Given the description of an element on the screen output the (x, y) to click on. 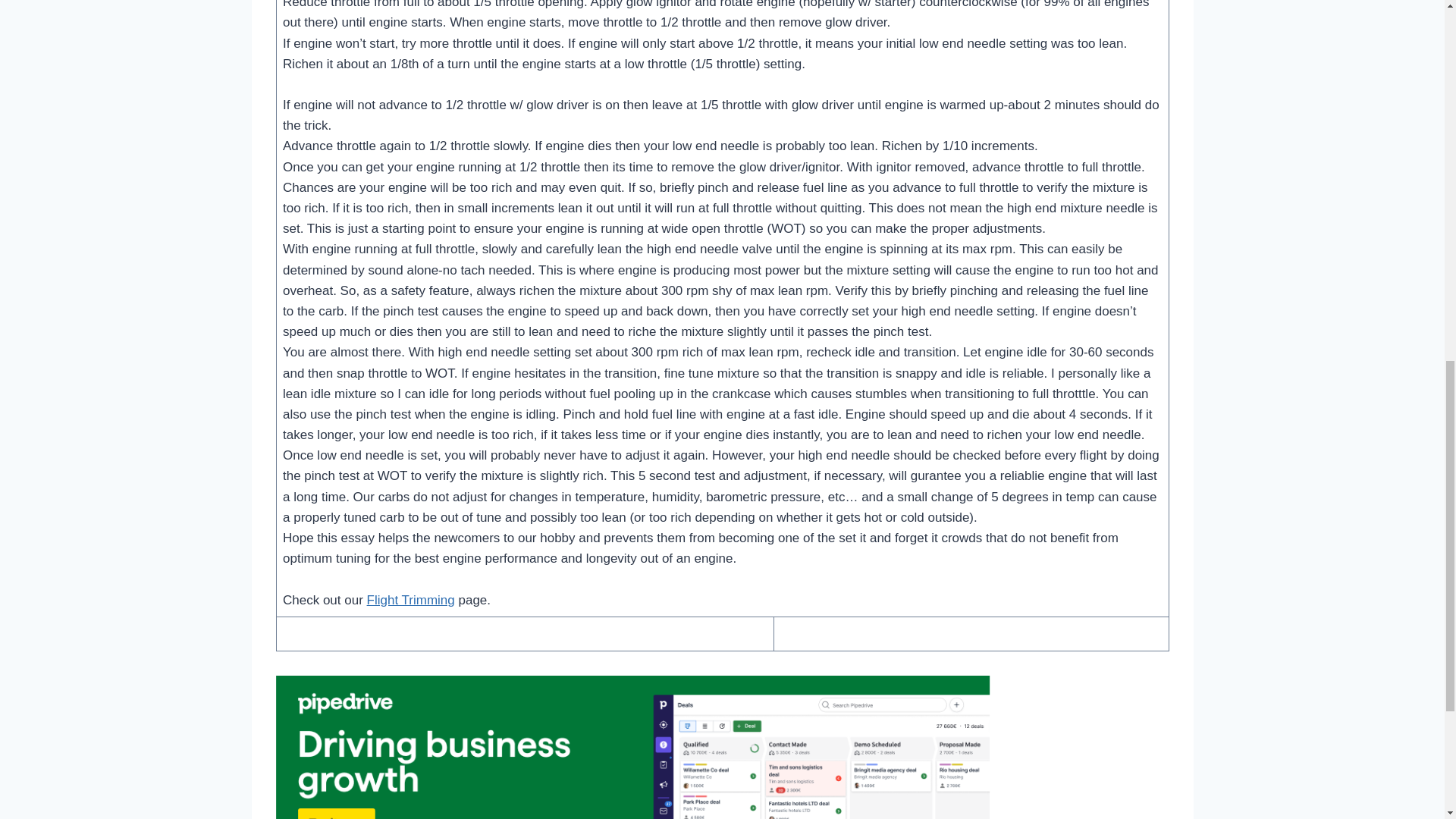
Flight Trimming (410, 599)
